Given the description of an element on the screen output the (x, y) to click on. 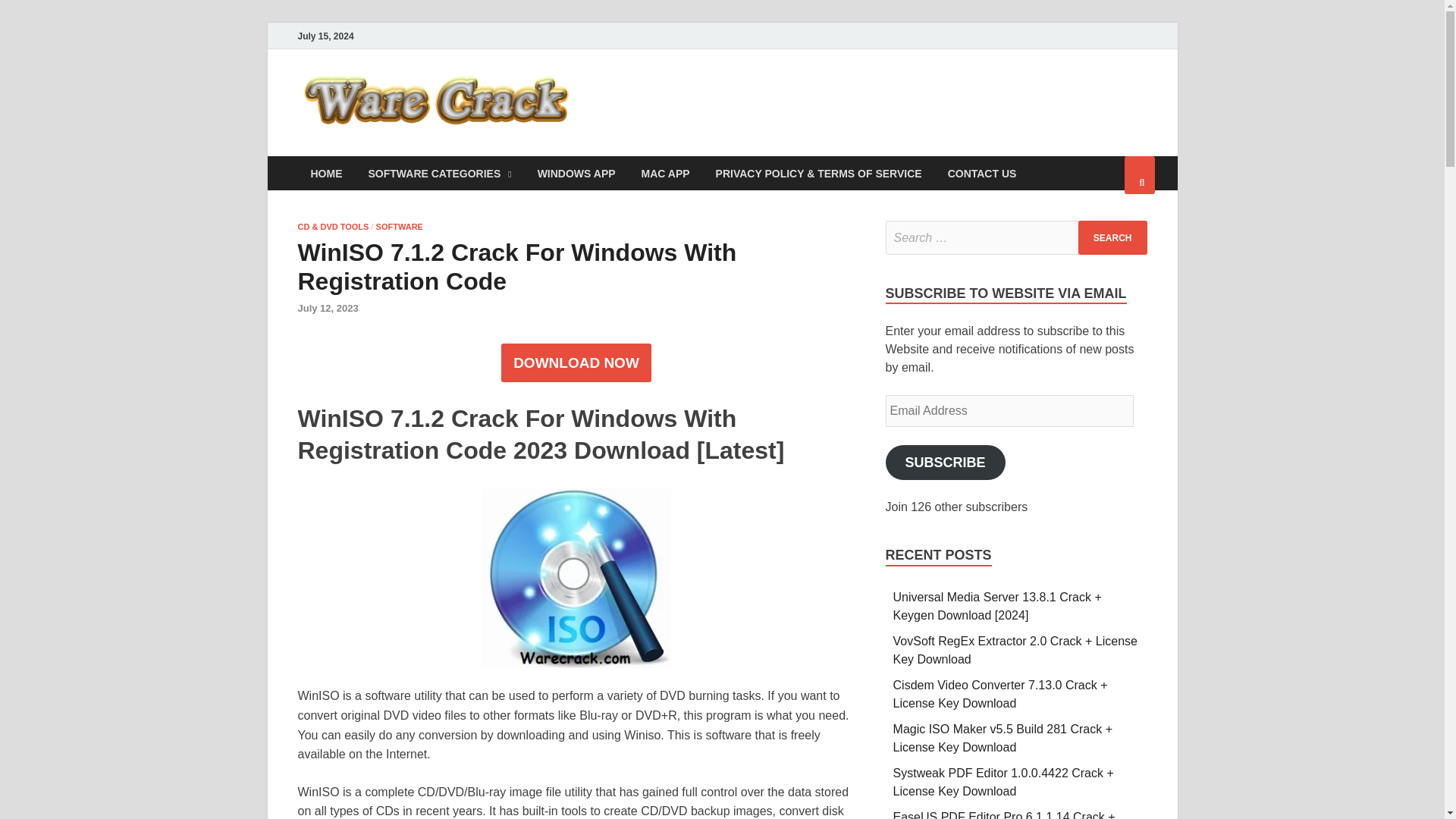
WINDOWS APP (576, 173)
Search (1112, 237)
CONTACT US (981, 173)
Software Crack (684, 100)
Search (1112, 237)
SOFTWARE CATEGORIES (439, 173)
MAC APP (665, 173)
HOME (326, 173)
